Given the description of an element on the screen output the (x, y) to click on. 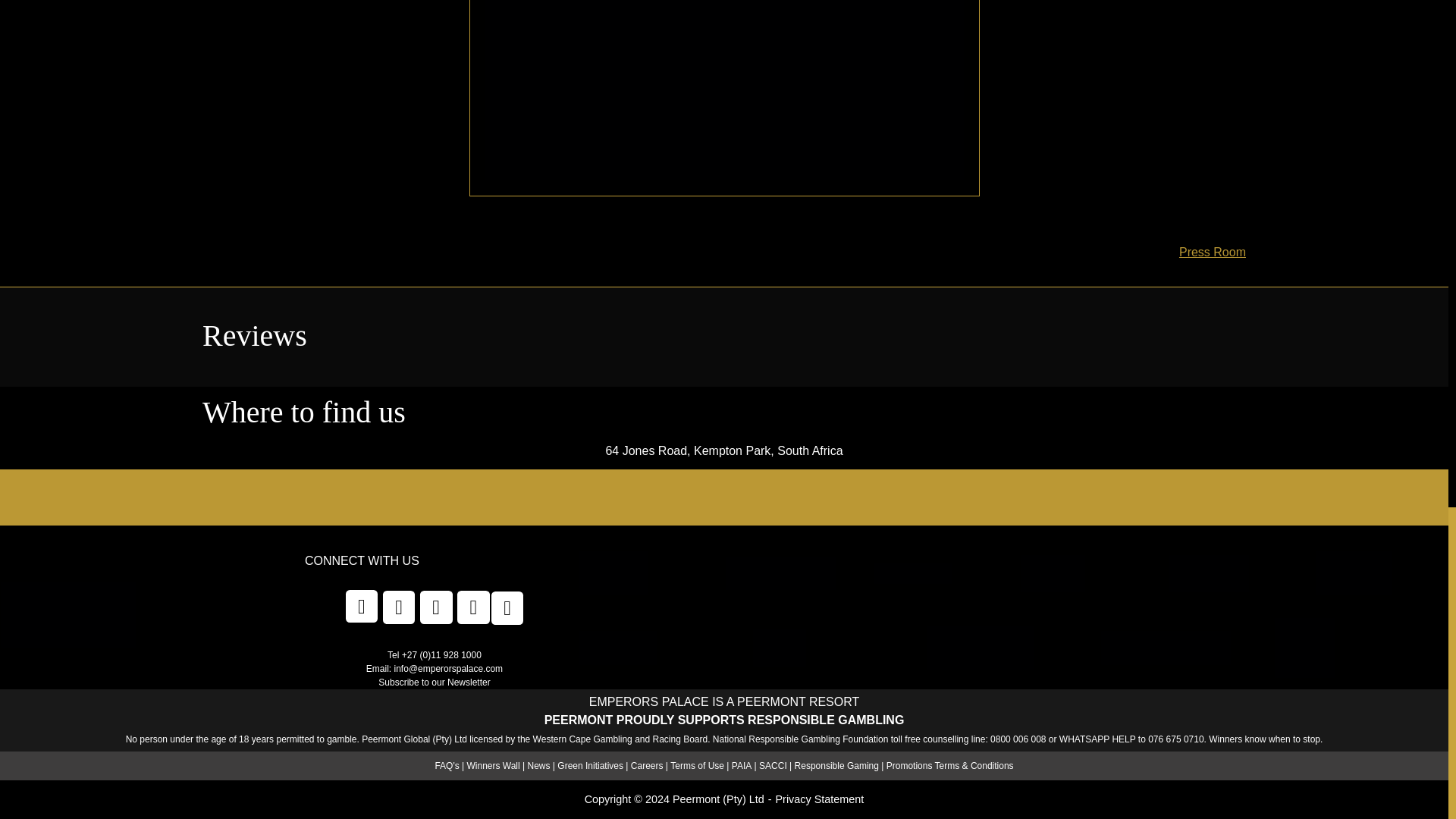
Emperors Palace Hotel Casino Convention Resort on Linkedin (436, 606)
Emperors Palace Hotel Casino Convention Resort on Facebook (362, 605)
Emperors Palace Hotel Casino Convention Resort on Instagram (508, 607)
Emperors Palace Hotel Casino Convention Resort on Youtube (473, 606)
Emperors Palace Hotel Casino Convention Resort on X (398, 606)
